Given the description of an element on the screen output the (x, y) to click on. 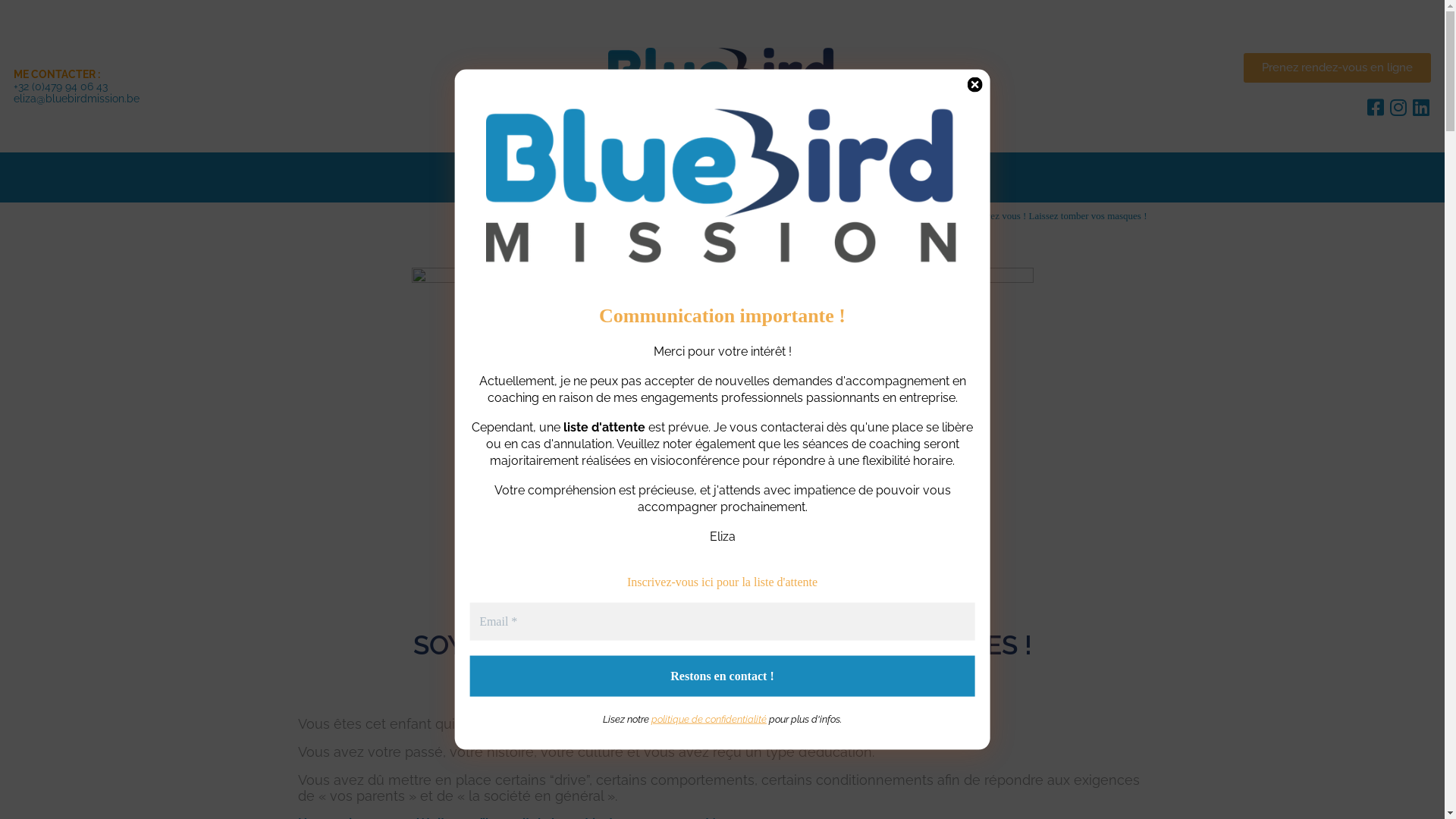
Blog Element type: text (865, 215)
Accueil Element type: text (548, 177)
Coaching personnel Element type: text (925, 215)
Contact Element type: text (893, 177)
Prenez rendez-vous en ligne Element type: text (1336, 67)
Qui suis-je ? Element type: text (812, 177)
BlueBird Mission Element type: text (810, 215)
Coaching Element type: text (628, 177)
eliza@bluebirdmission.be Element type: text (76, 98)
Just for you Element type: text (720, 177)
Restons en contact ! Element type: text (722, 675)
Email Element type: hover (722, 621)
+32 (0)479 94 06 43 Element type: text (60, 86)
